Given the description of an element on the screen output the (x, y) to click on. 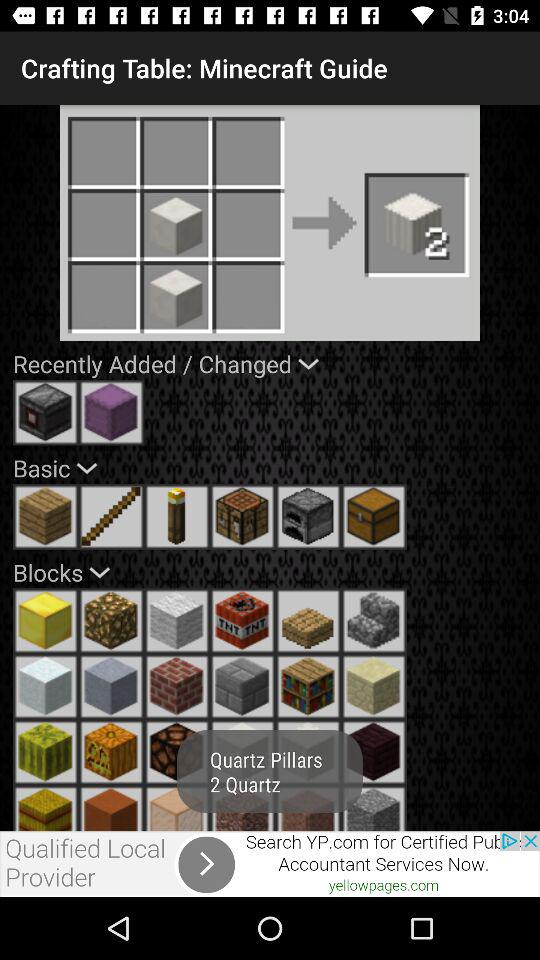
select element (373, 686)
